Given the description of an element on the screen output the (x, y) to click on. 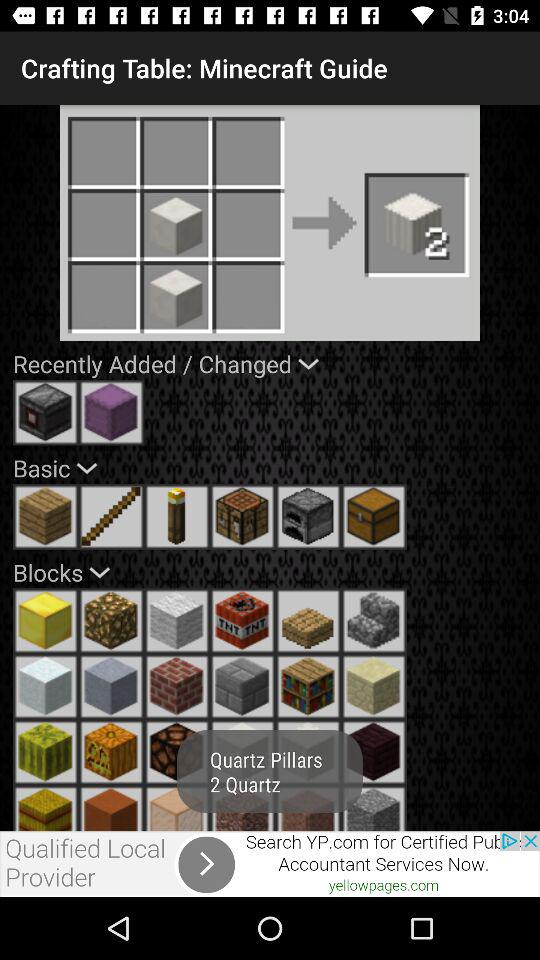
select element (373, 686)
